Given the description of an element on the screen output the (x, y) to click on. 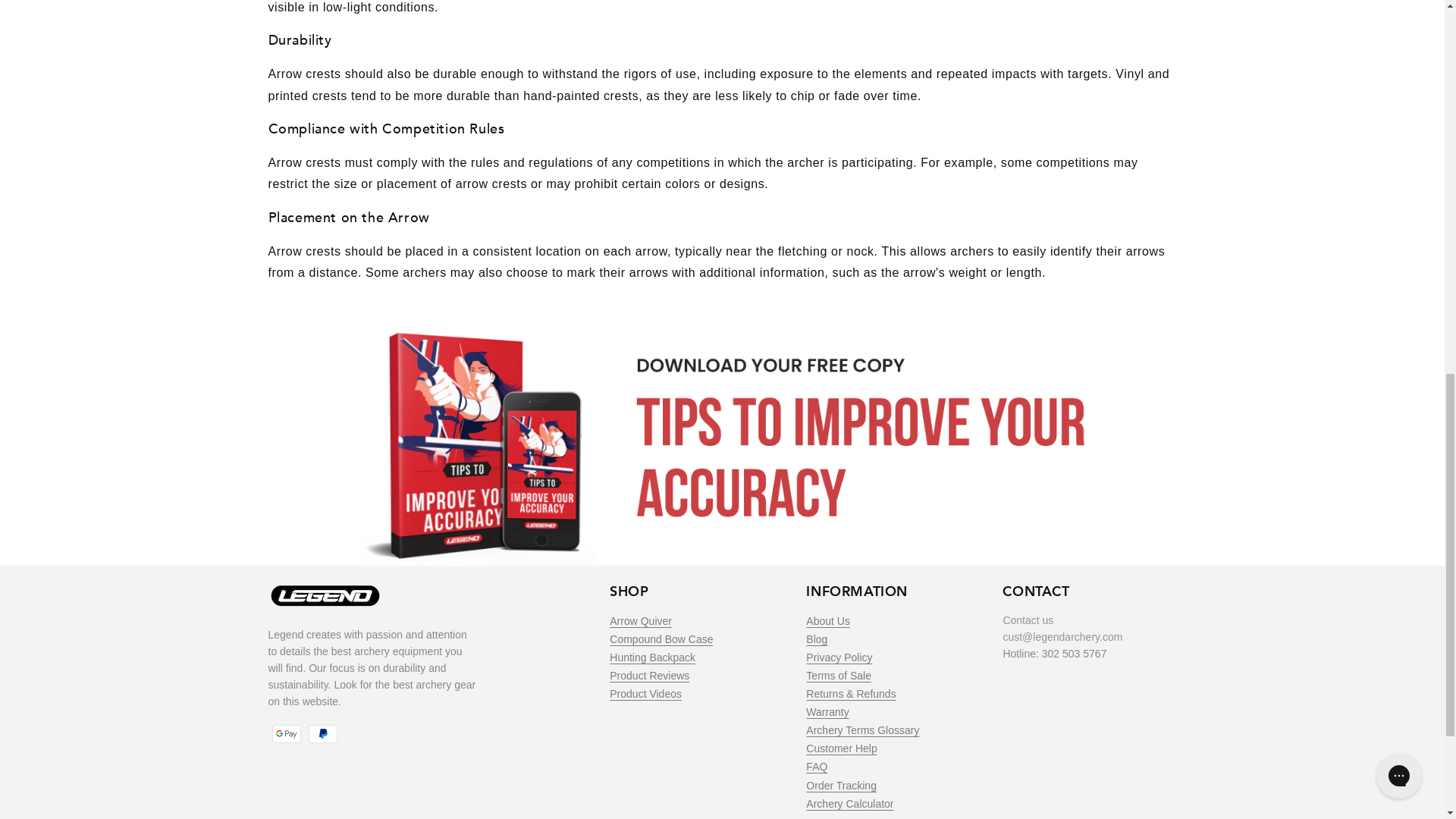
Contact Us (1027, 620)
